Given the description of an element on the screen output the (x, y) to click on. 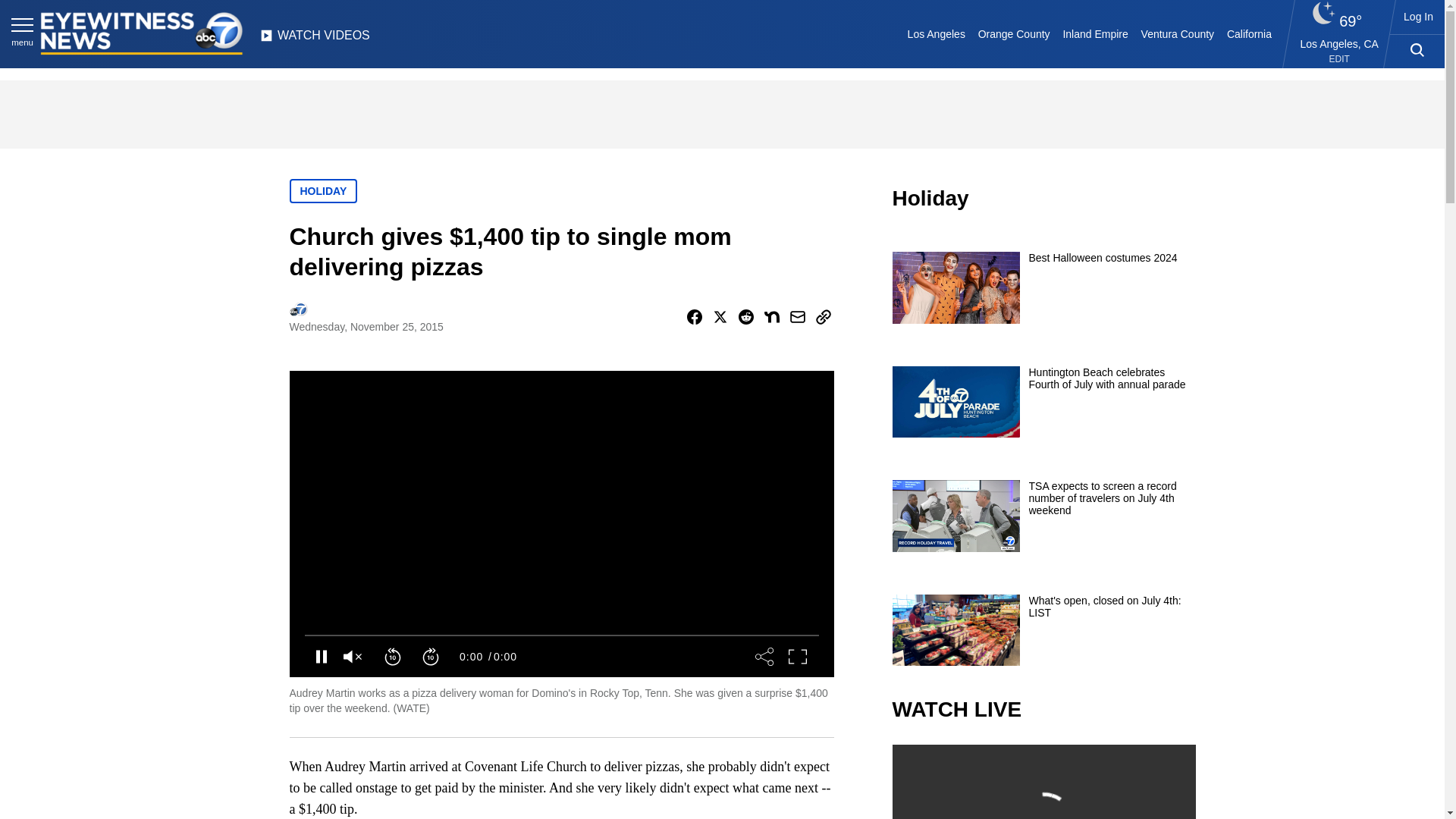
WATCH VIDEOS (314, 39)
video.title (1043, 781)
Los Angeles (936, 33)
Orange County (1014, 33)
Los Angeles, CA (1339, 43)
Inland Empire (1095, 33)
Ventura County (1177, 33)
EDIT (1339, 59)
California (1249, 33)
